Given the description of an element on the screen output the (x, y) to click on. 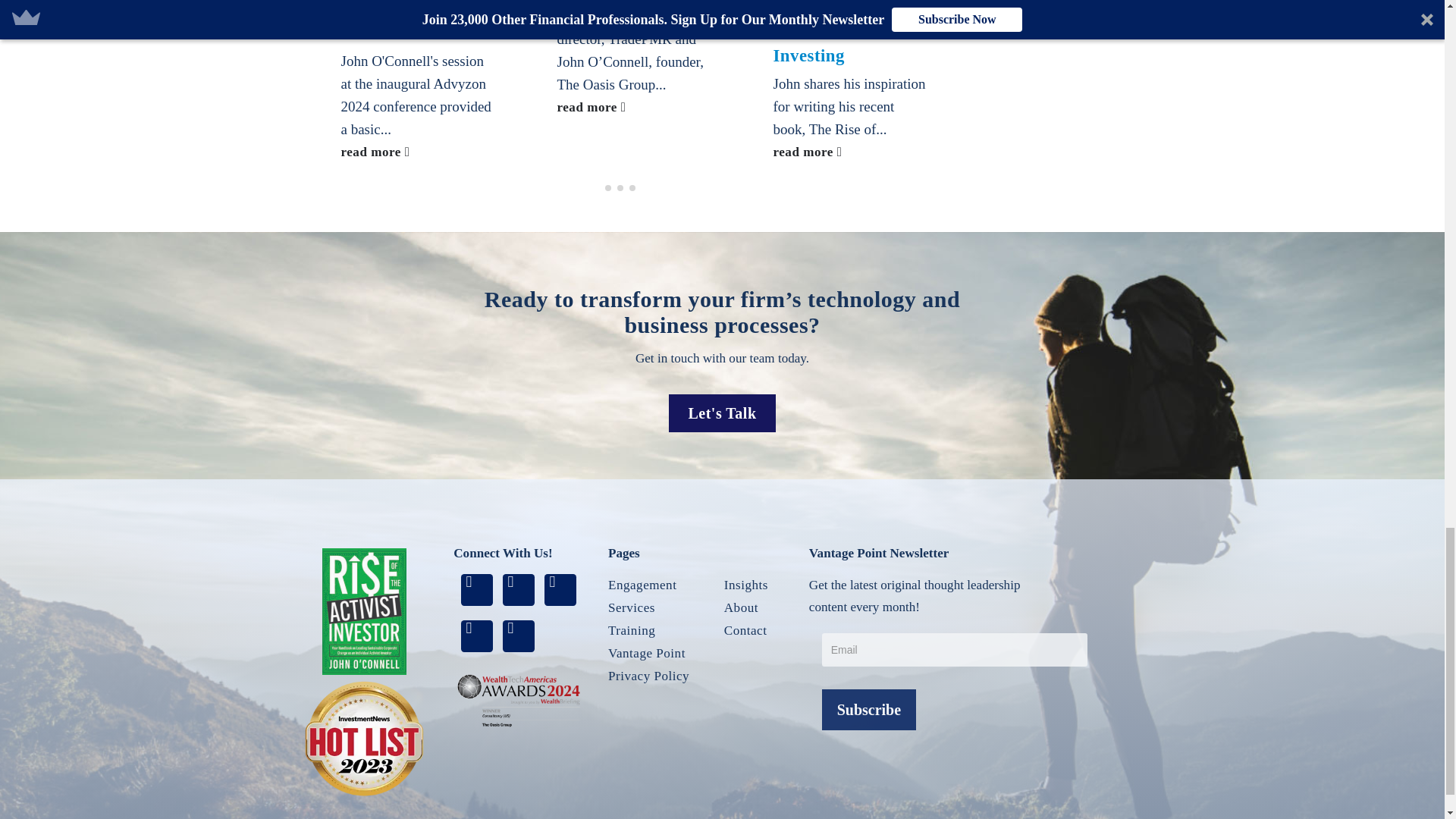
read more (418, 151)
